Given the description of an element on the screen output the (x, y) to click on. 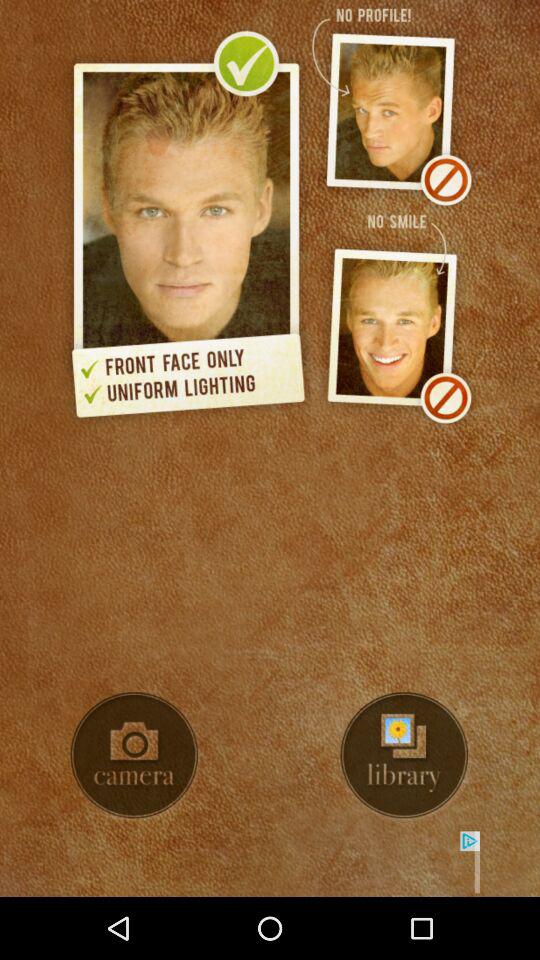
use camera button (134, 755)
